Given the description of an element on the screen output the (x, y) to click on. 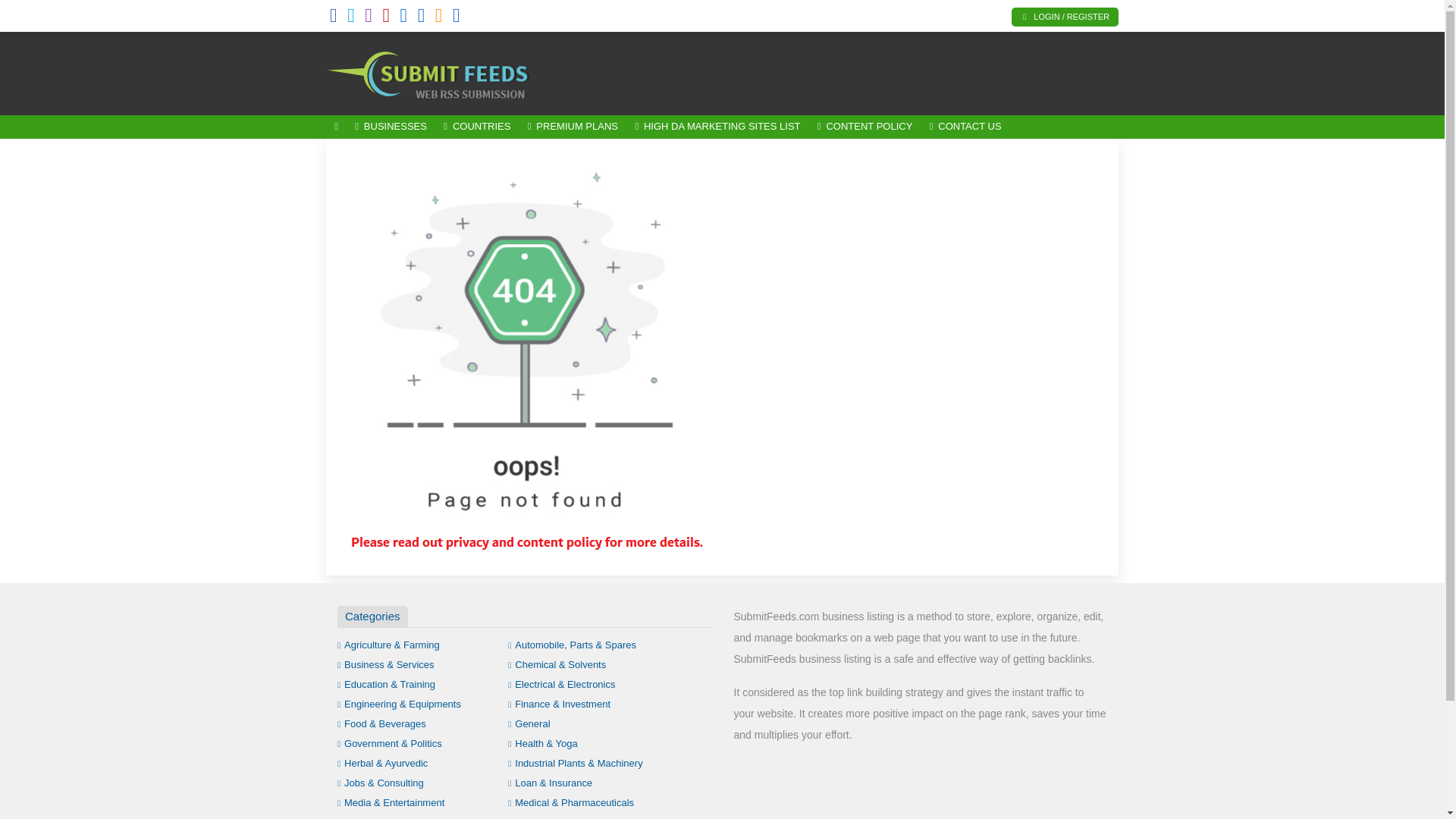
General (529, 723)
COUNTRIES (476, 126)
BUSINESSES (390, 126)
CONTACT US (965, 126)
PREMIUM PLANS (573, 126)
CONTENT POLICY (865, 126)
HIGH DA MARKETING SITES LIST (717, 126)
